Given the description of an element on the screen output the (x, y) to click on. 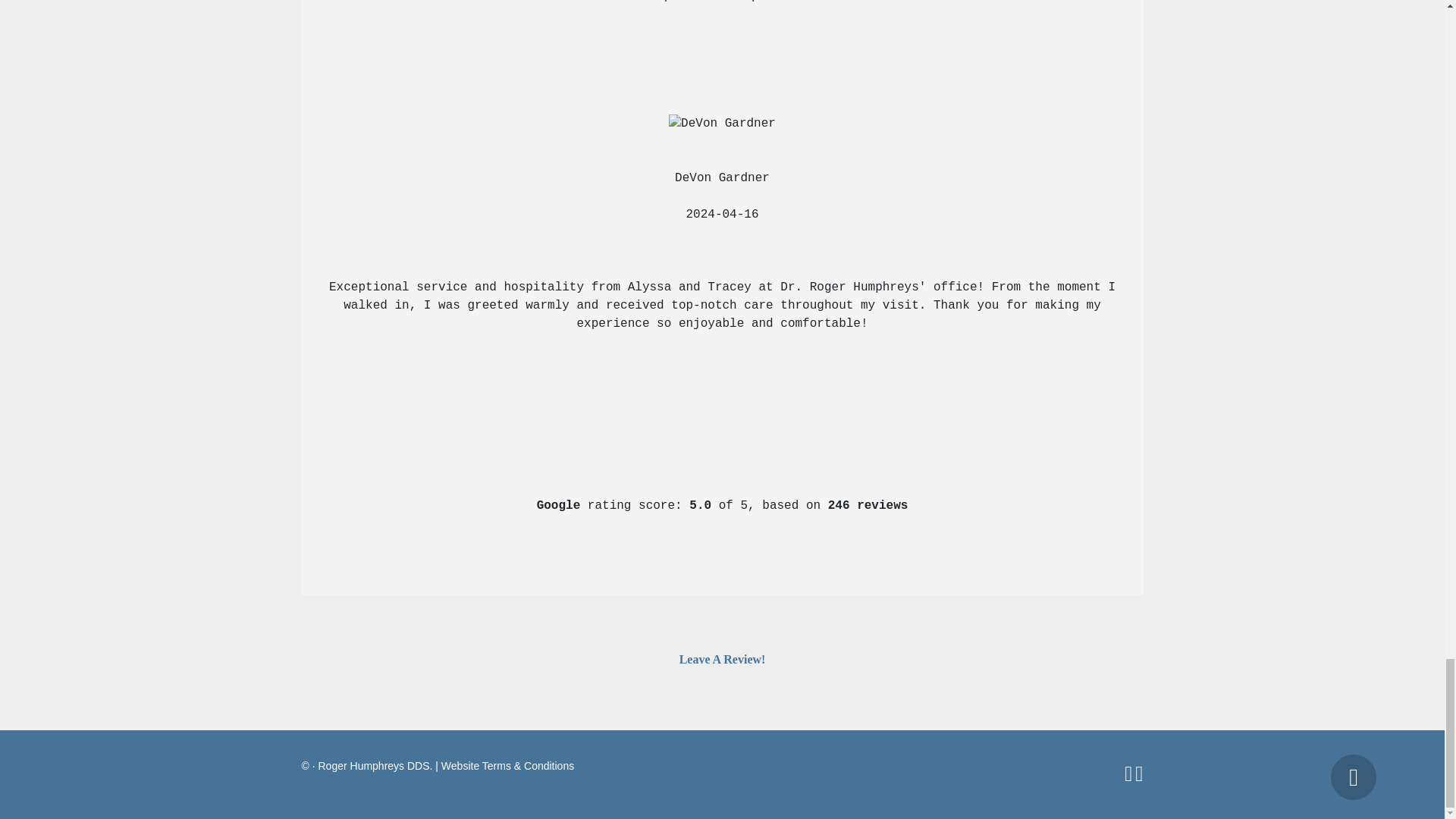
Leave A Review! (722, 658)
